Given the description of an element on the screen output the (x, y) to click on. 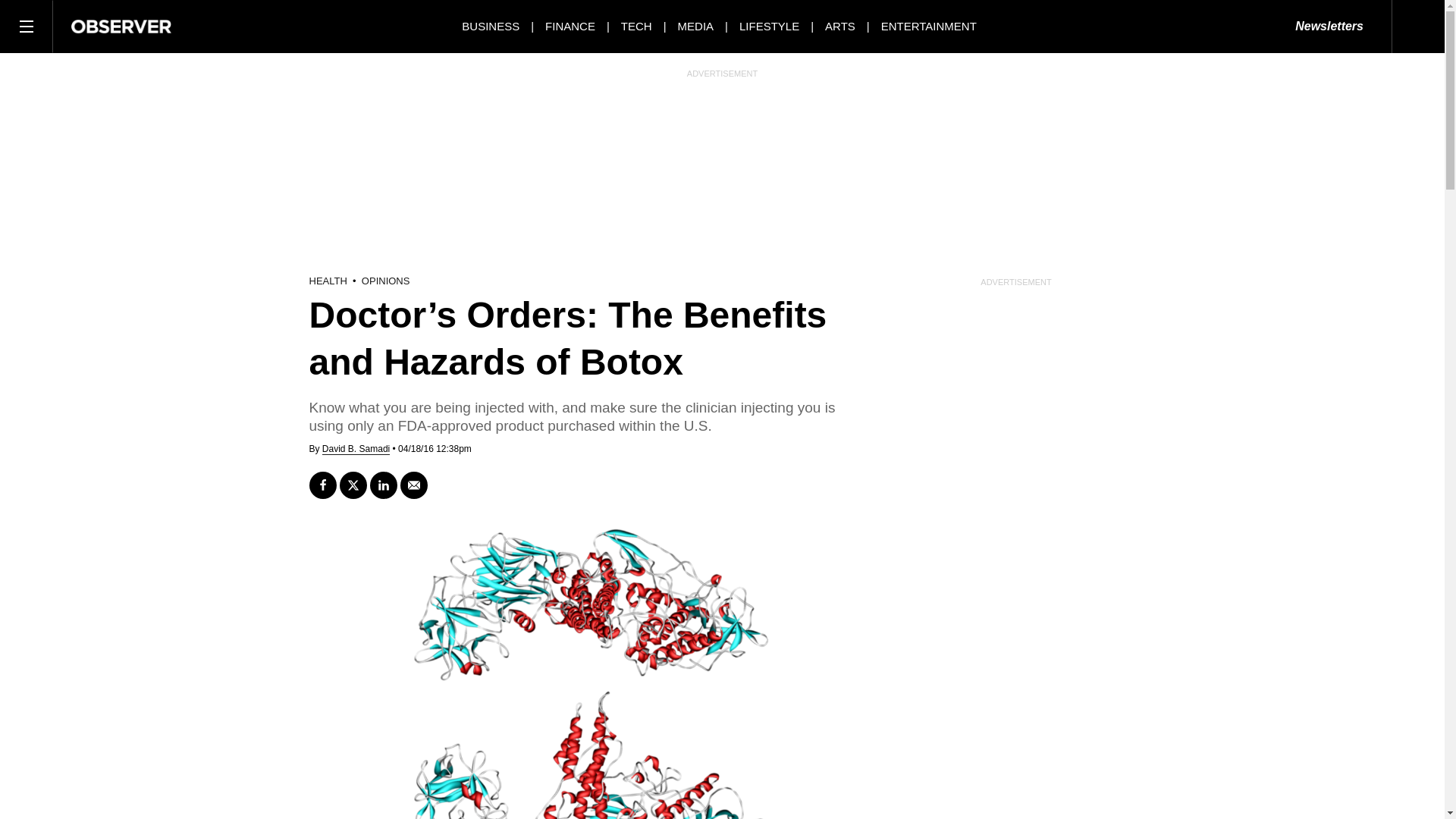
Observer (121, 26)
Newsletters (1329, 26)
Share on Facebook (322, 484)
LIFESTYLE (769, 25)
FINANCE (569, 25)
Share on LinkedIn (383, 484)
View All Posts by David B. Samadi (355, 449)
Tweet (352, 484)
MEDIA (696, 25)
TECH (636, 25)
